Given the description of an element on the screen output the (x, y) to click on. 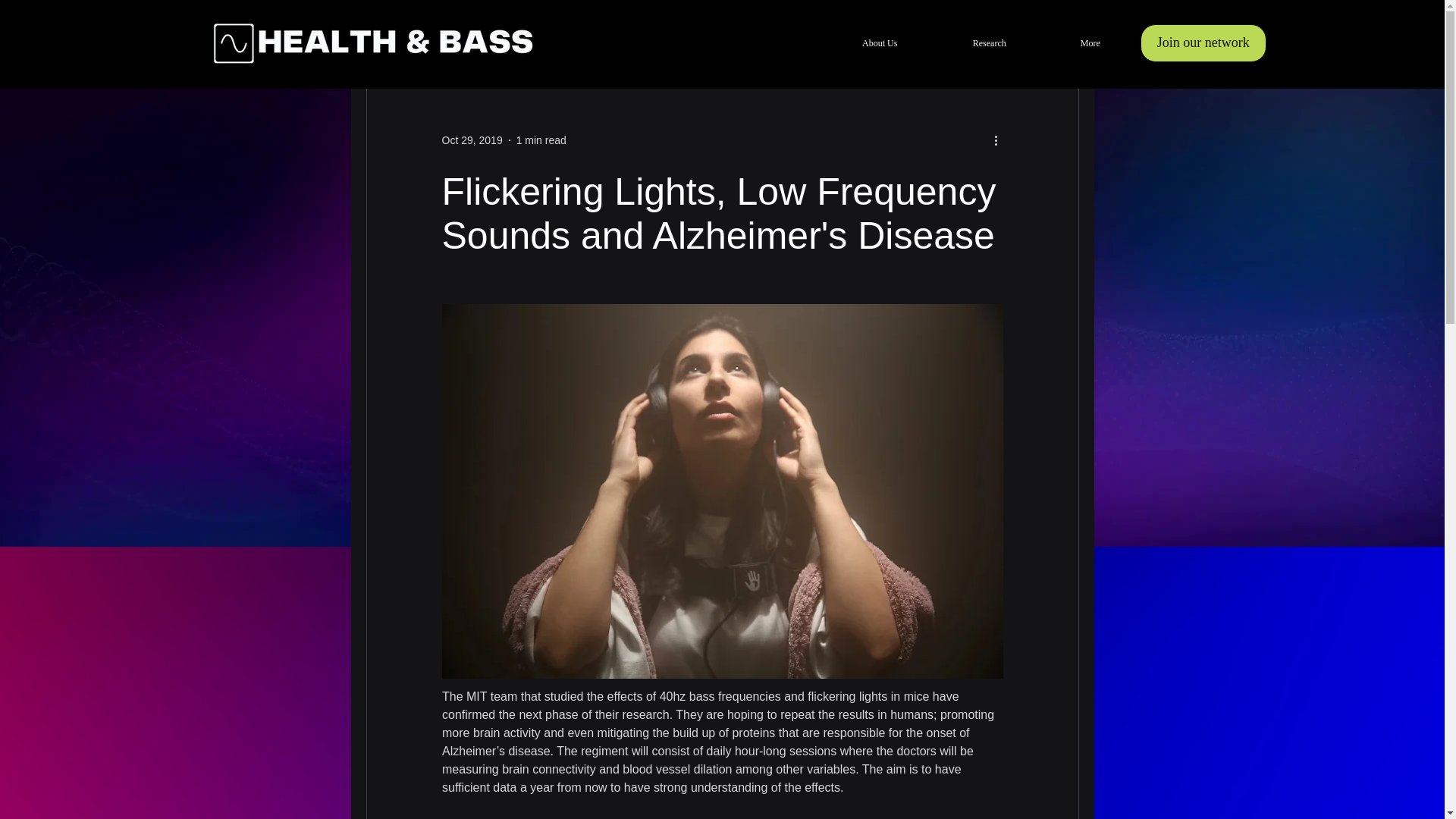
Research (989, 43)
Join our network (1203, 43)
1 min read (541, 139)
Oct 29, 2019 (471, 139)
About Us (879, 43)
